Given the description of an element on the screen output the (x, y) to click on. 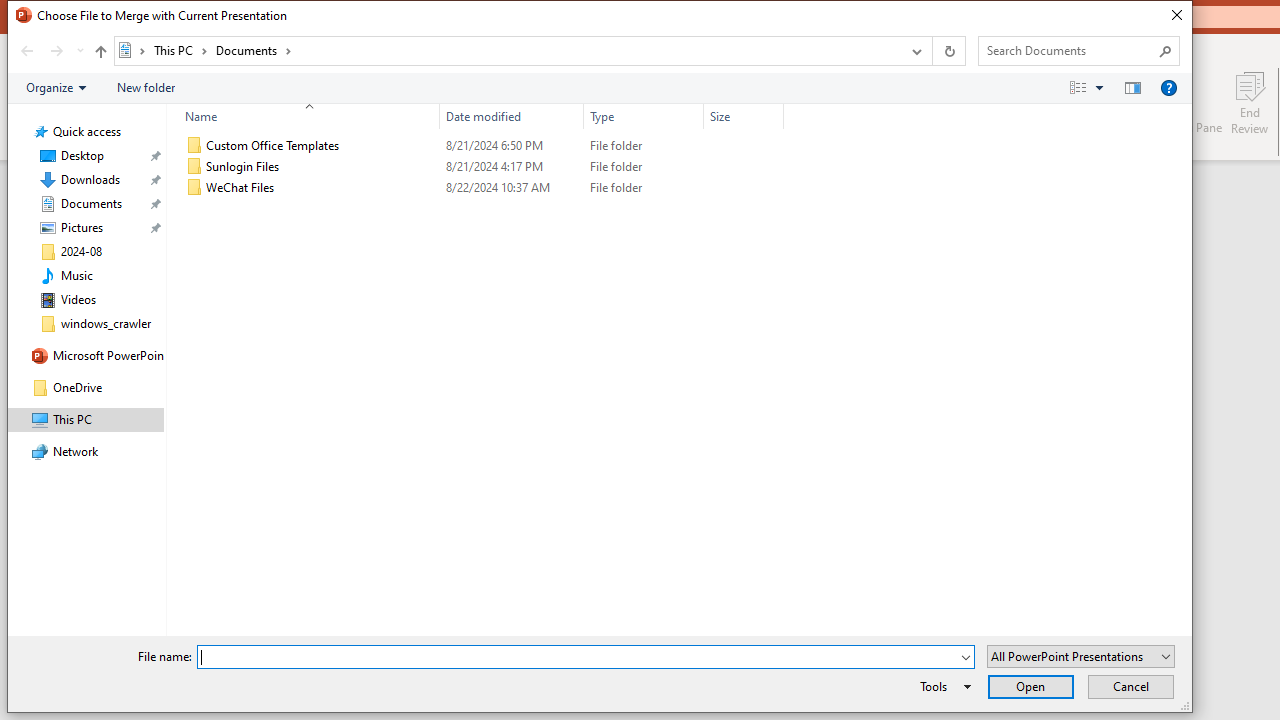
Back (Alt + Left Arrow) (26, 51)
Size (743, 187)
Up band toolbar (100, 54)
Date modified (511, 115)
Sunlogin Files (480, 166)
Type (643, 115)
Views (1090, 87)
All locations (132, 50)
Class: UIImage (194, 187)
Custom Office Templates (480, 145)
Navigation buttons (50, 51)
Up to "This PC" (Alt + Up Arrow) (100, 52)
